Given the description of an element on the screen output the (x, y) to click on. 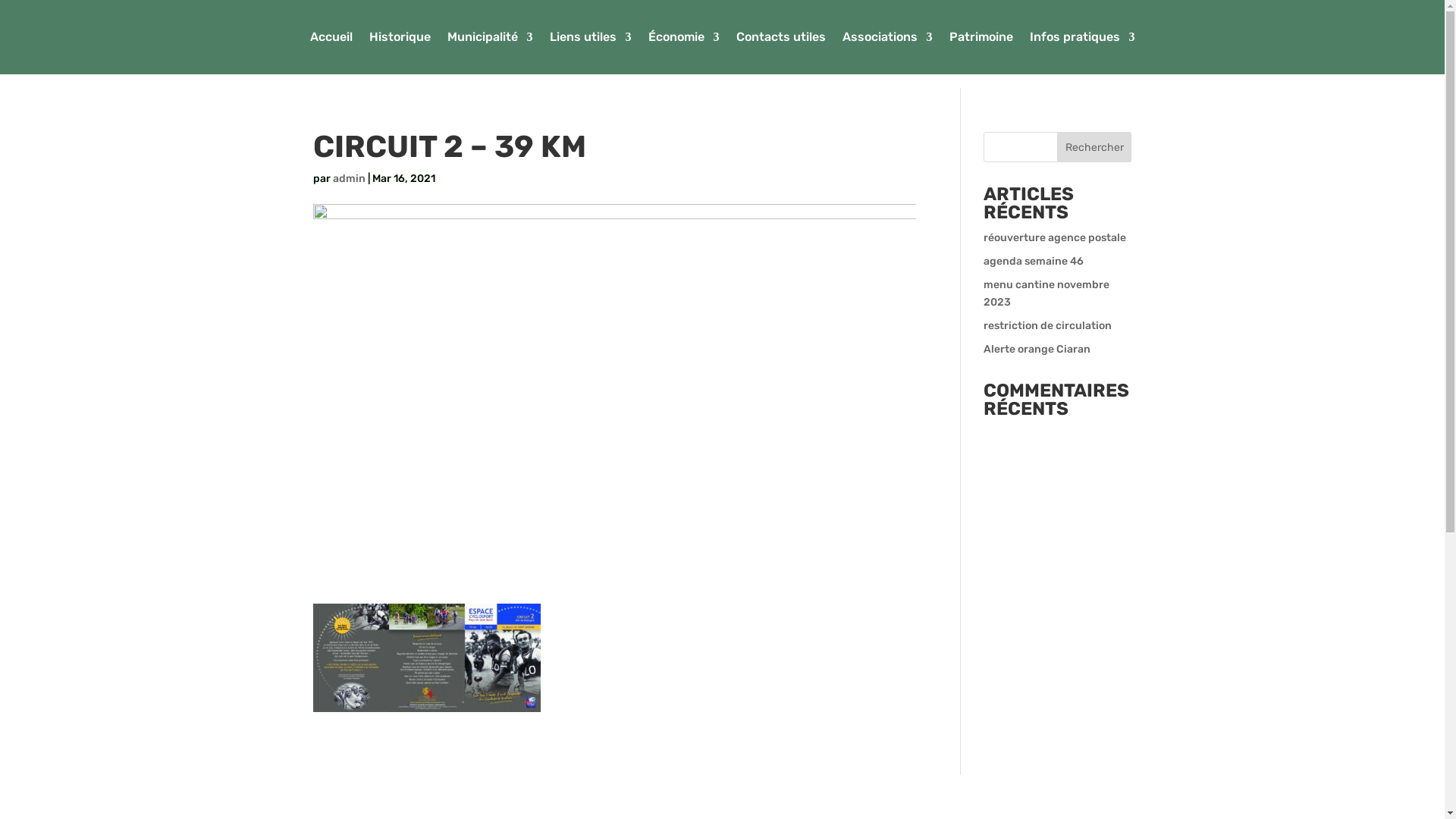
admin Element type: text (348, 178)
menu cantine novembre 2023 Element type: text (1046, 293)
Rechercher Element type: text (1094, 146)
Contacts utiles Element type: text (780, 39)
Historique Element type: text (398, 39)
agenda semaine 46 Element type: text (1033, 260)
Patrimoine Element type: text (981, 39)
restriction de circulation Element type: text (1047, 325)
Accueil Element type: text (330, 39)
Liens utiles Element type: text (589, 39)
Alerte orange Ciaran Element type: text (1036, 348)
Associations Element type: text (886, 39)
Infos pratiques Element type: text (1082, 39)
